Given the description of an element on the screen output the (x, y) to click on. 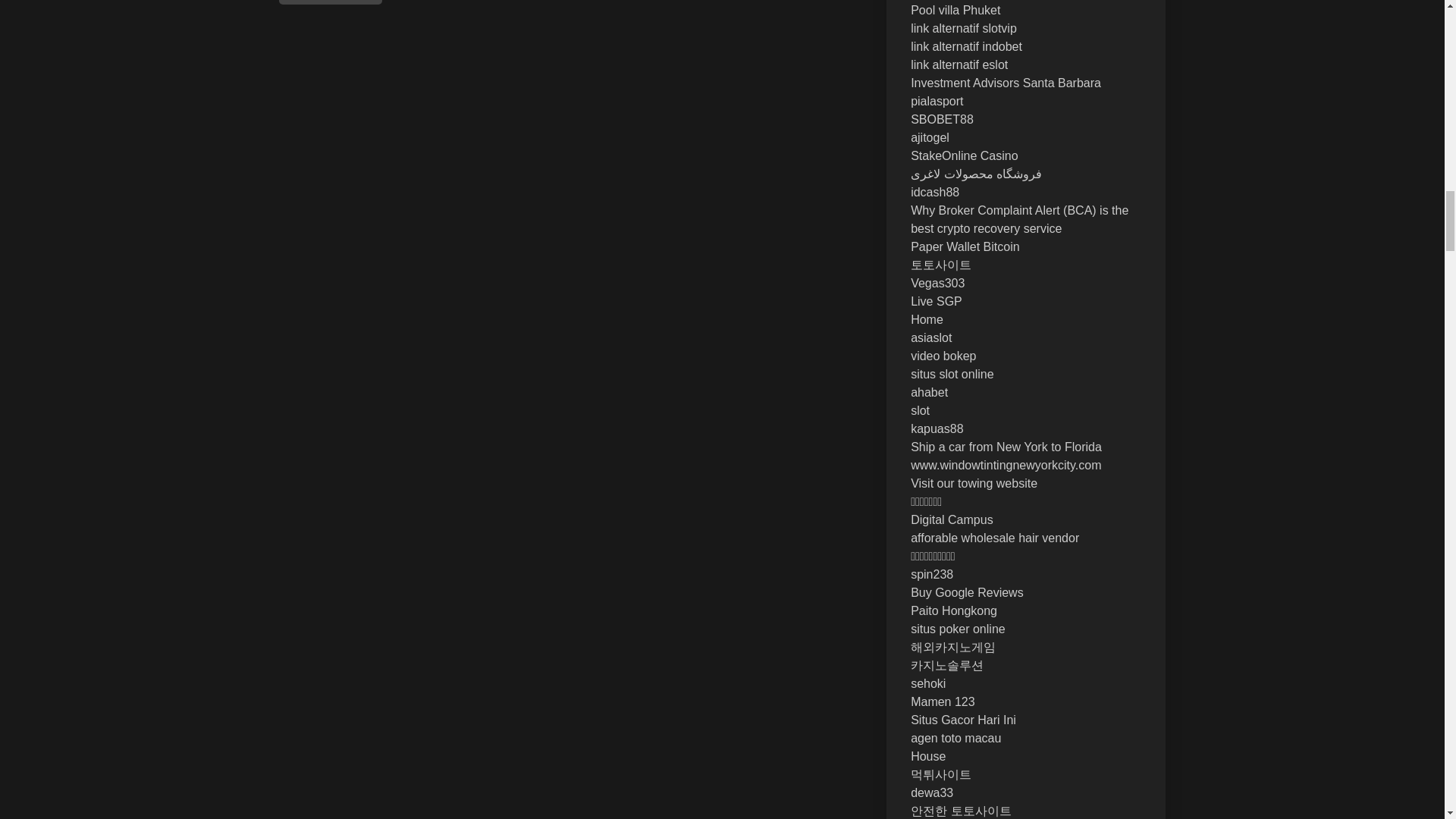
Post Comment (330, 2)
Post Comment (330, 2)
